Given the description of an element on the screen output the (x, y) to click on. 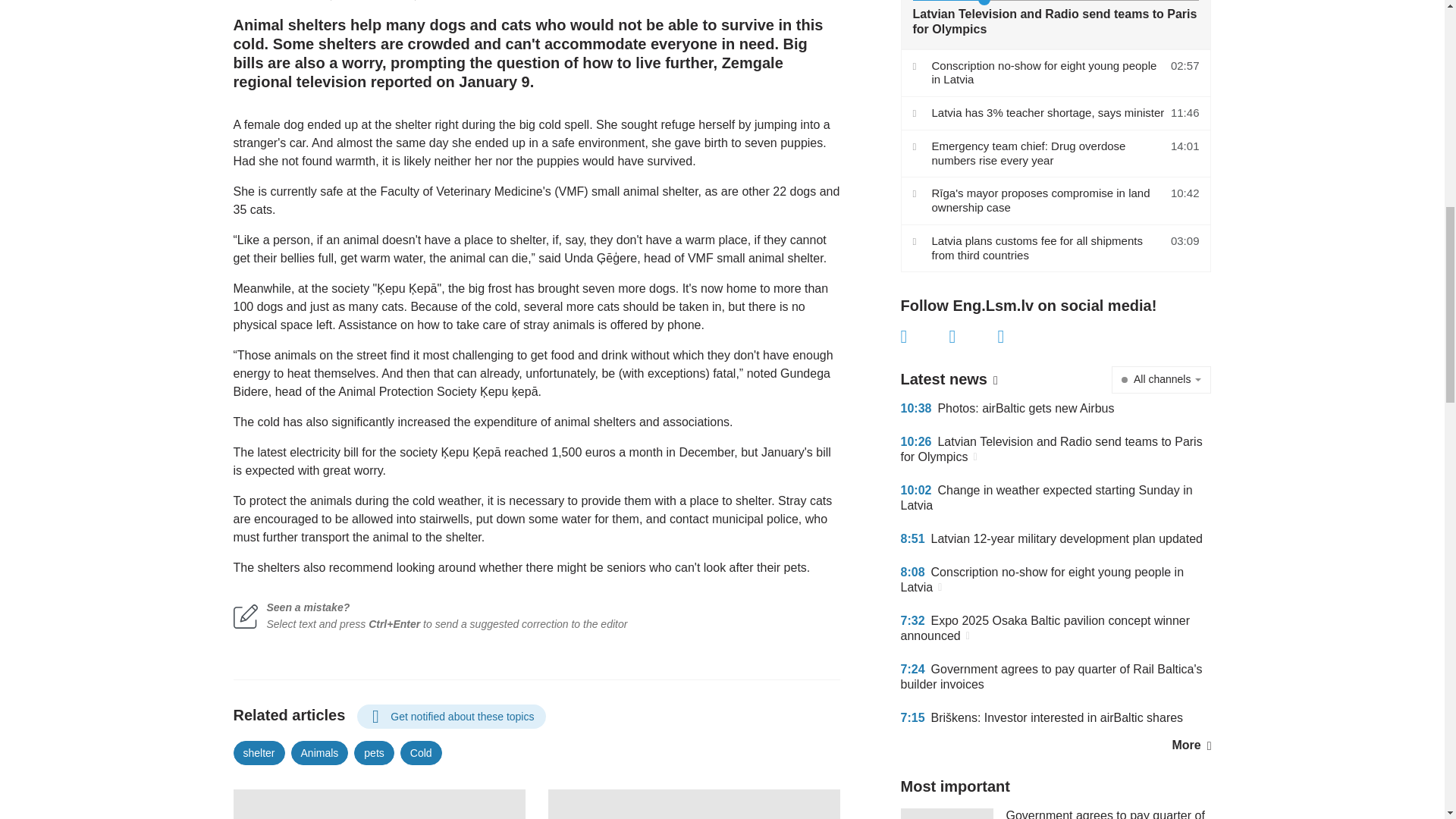
X (973, 336)
Facebook (925, 336)
Linkedin (1021, 336)
